Given the description of an element on the screen output the (x, y) to click on. 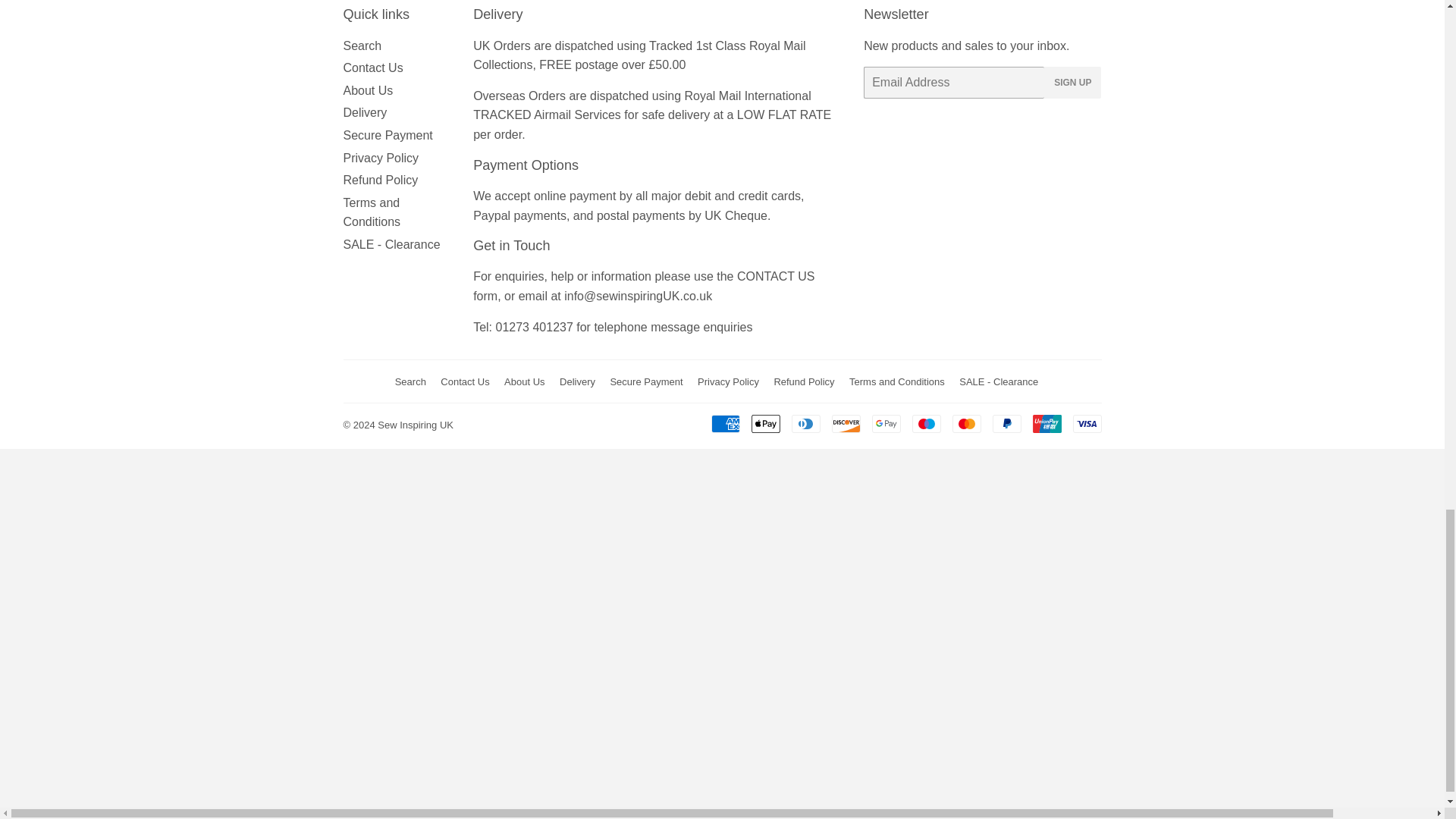
Maestro (925, 423)
Diners Club (806, 423)
American Express (725, 423)
Mastercard (966, 423)
Visa (1085, 423)
PayPal (1005, 423)
Union Pay (1046, 423)
Discover (845, 423)
Google Pay (886, 423)
Apple Pay (764, 423)
